Given the description of an element on the screen output the (x, y) to click on. 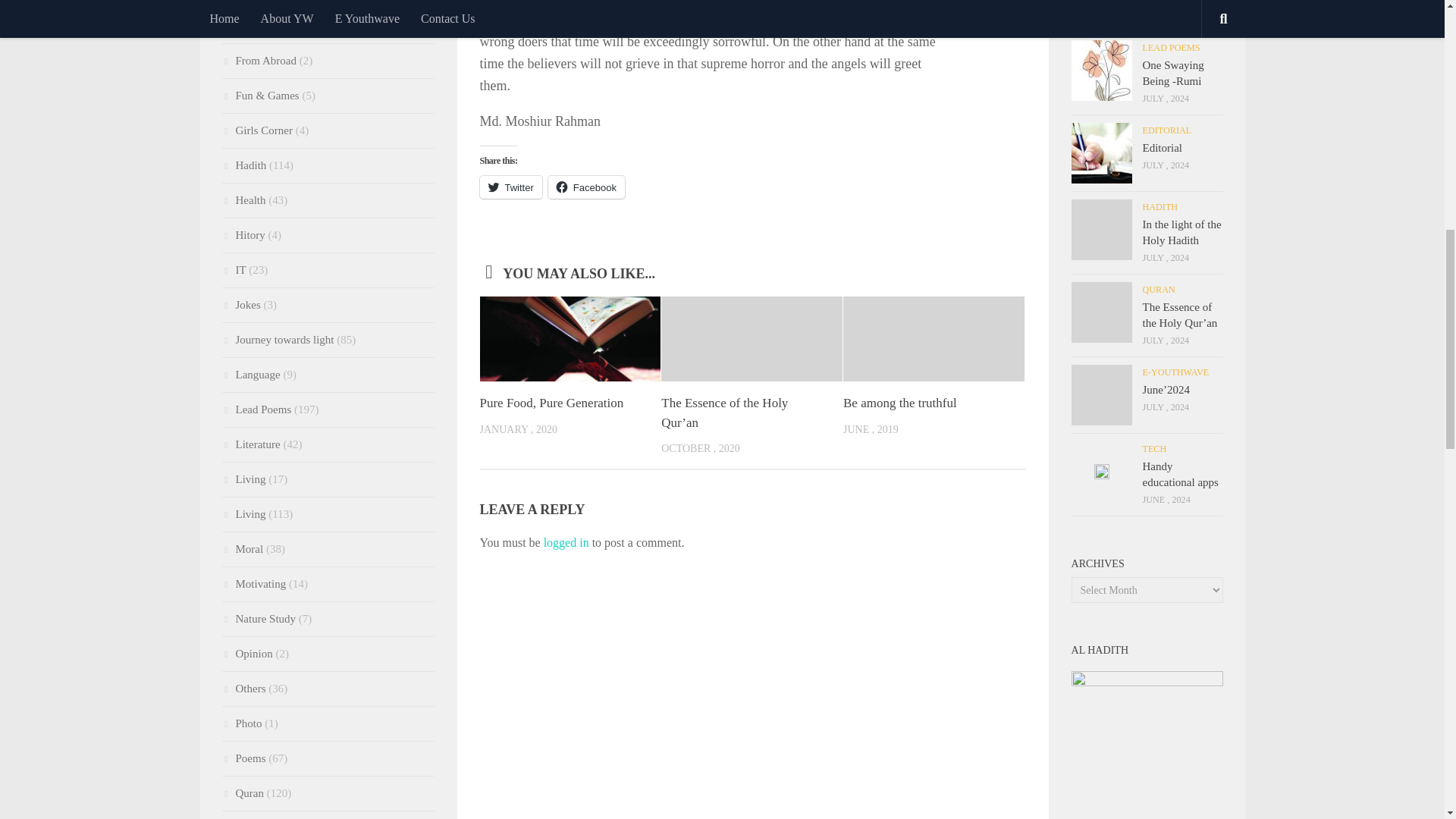
Click to share on Facebook (586, 187)
Click to share on Twitter (510, 187)
